Given the description of an element on the screen output the (x, y) to click on. 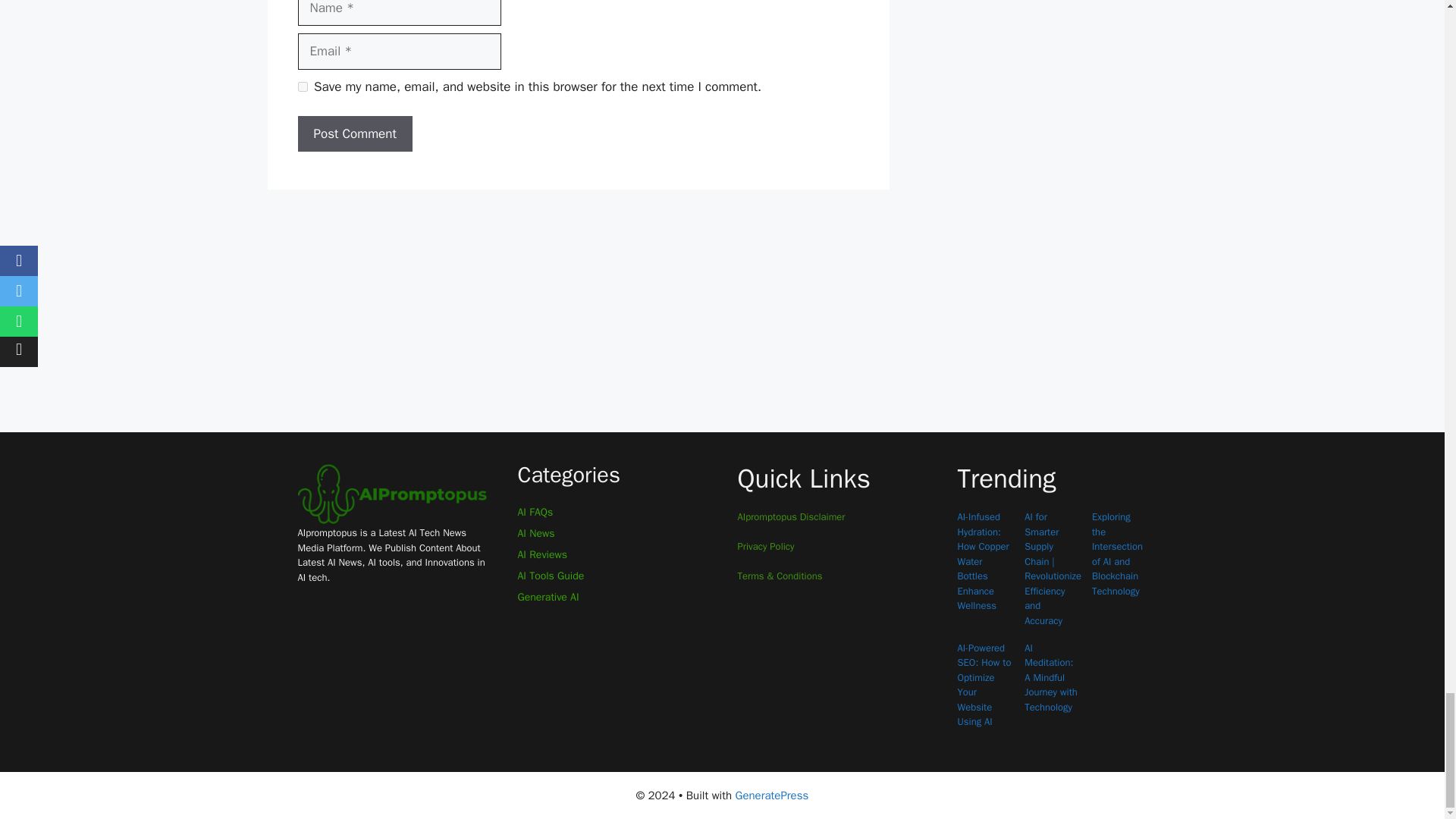
yes (302, 86)
Post Comment (354, 134)
